Given the description of an element on the screen output the (x, y) to click on. 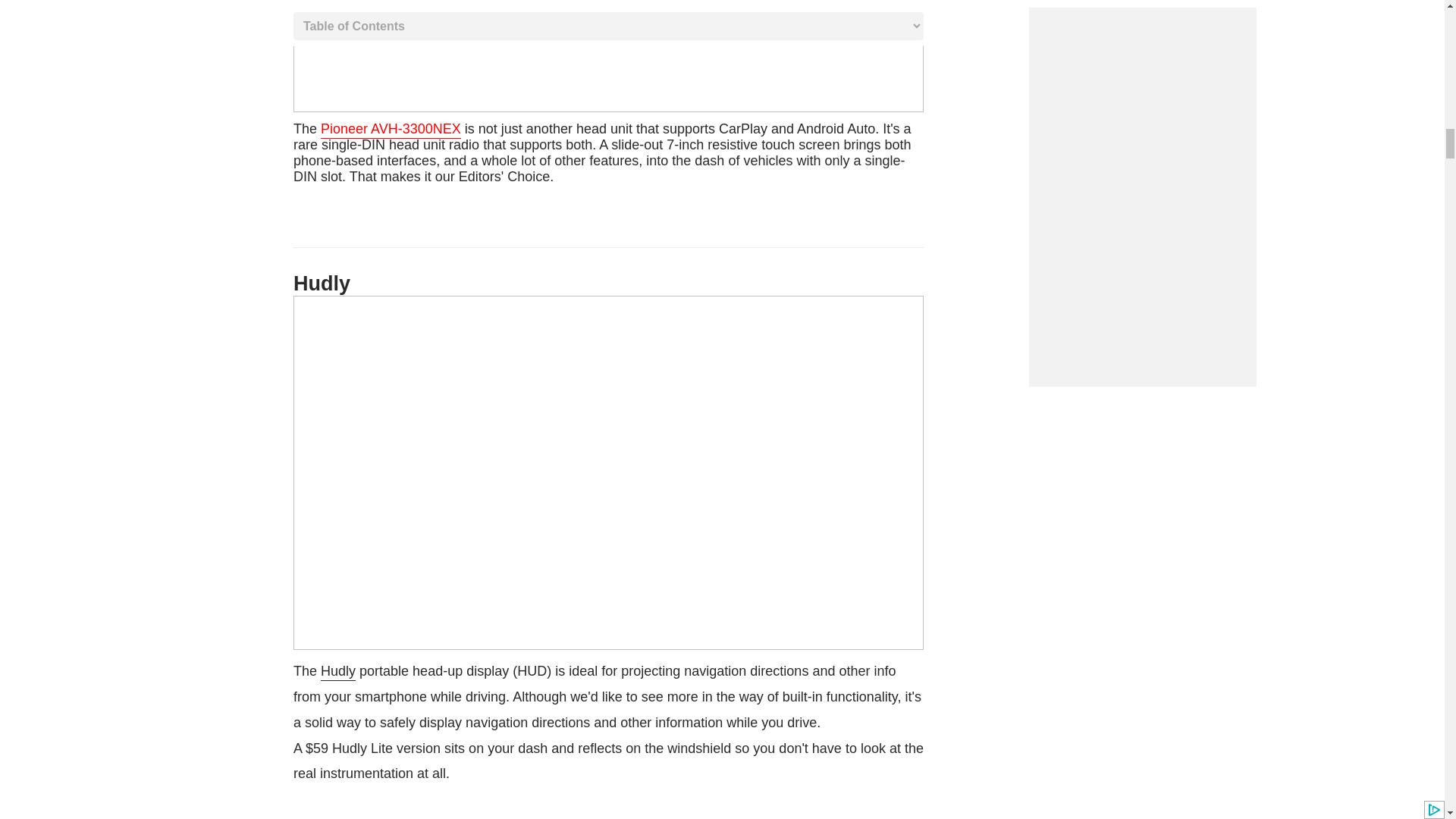
Buy It Now (602, 152)
